Given the description of an element on the screen output the (x, y) to click on. 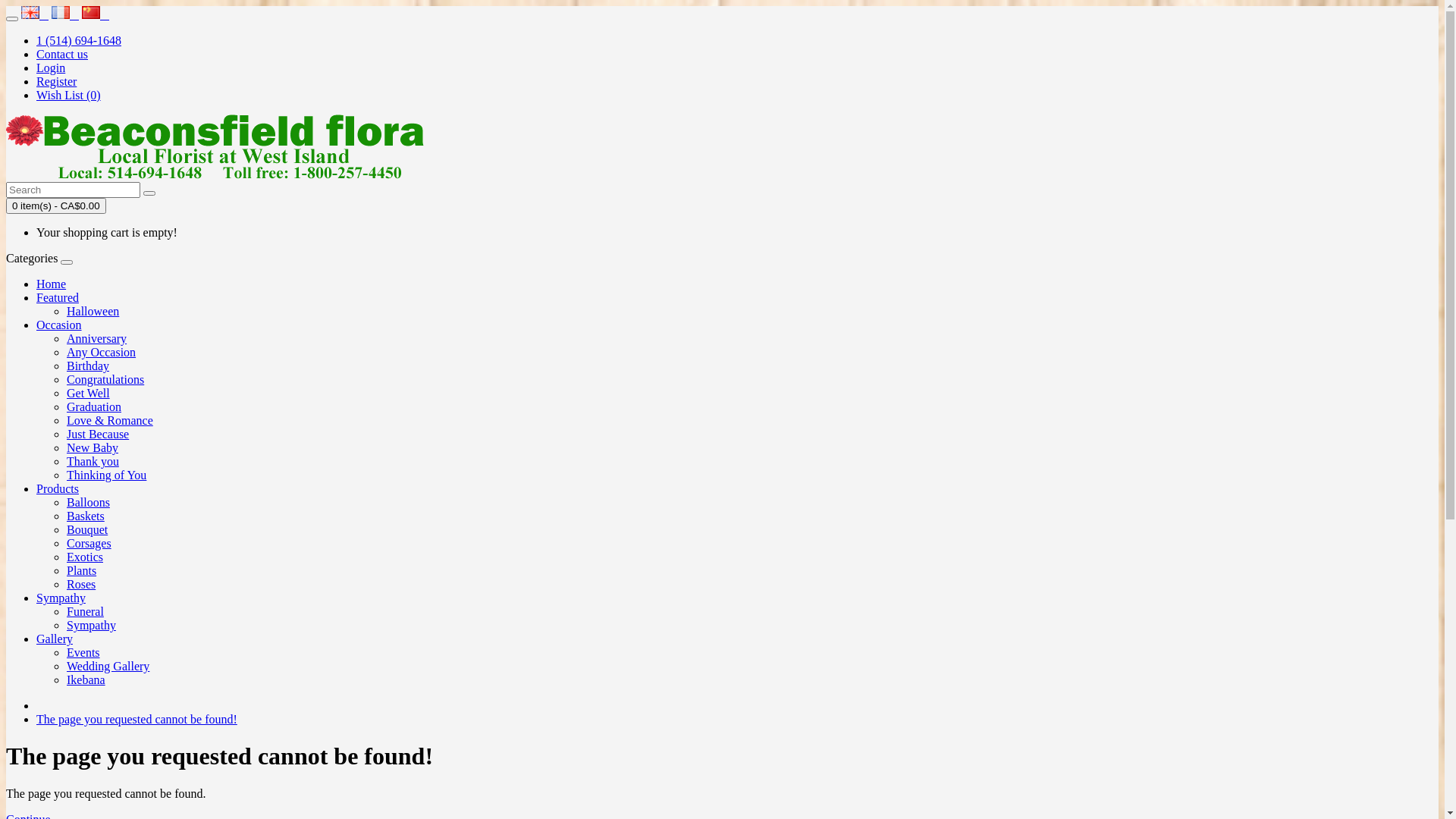
Occasion Element type: text (58, 324)
Login Element type: text (50, 67)
Register Element type: text (56, 81)
1 (514) 694-1648 Element type: text (78, 40)
Balloons Element type: text (87, 501)
    Element type: text (64, 14)
Beaconsfield Flora Element type: hover (214, 146)
Halloween Element type: text (92, 310)
    Element type: text (95, 14)
Just Because Element type: text (97, 433)
Exotics Element type: text (84, 556)
Anniversary Element type: text (96, 338)
Get Well Element type: text (87, 392)
The page you requested cannot be found! Element type: text (136, 718)
Congratulations Element type: text (105, 379)
Thank you Element type: text (92, 461)
Home Element type: text (50, 283)
Events Element type: text (83, 652)
Any Occasion Element type: text (100, 351)
Corsages Element type: text (88, 542)
Contact us Element type: text (61, 53)
Bouquet Element type: text (86, 529)
    Element type: text (34, 14)
English Element type: hover (30, 12)
Love & Romance Element type: text (109, 420)
Ikebana Element type: text (85, 679)
Gallery Element type: text (54, 638)
Sympathy Element type: text (60, 597)
0 item(s) - CA$0.00 Element type: text (56, 205)
Roses Element type: text (80, 583)
Wedding Gallery Element type: text (107, 665)
Sympathy Element type: text (91, 624)
Funeral Element type: text (84, 611)
Baskets Element type: text (85, 515)
Graduation Element type: text (93, 406)
Thinking of You Element type: text (106, 474)
Wish List (0) Element type: text (68, 94)
Products Element type: text (57, 488)
New Baby Element type: text (92, 447)
Birthday Element type: text (87, 365)
Featured Element type: text (57, 297)
Plants Element type: text (81, 570)
